Given the description of an element on the screen output the (x, y) to click on. 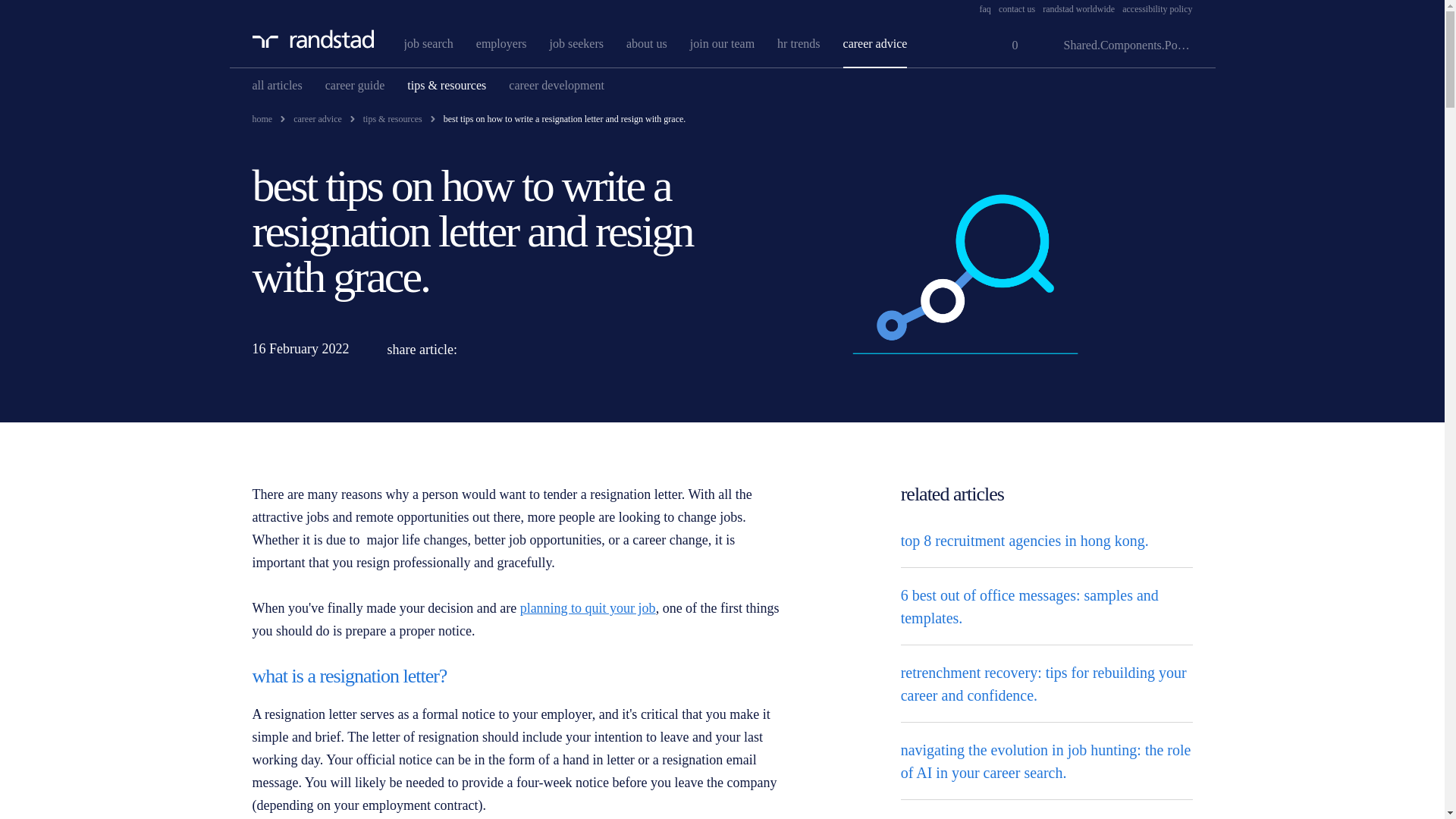
randstad (311, 38)
faq (985, 9)
hr trends (798, 42)
employers (501, 42)
Shared.Components.Popup.myRandstad.Title (1116, 44)
share this article on linkedin (483, 349)
job search (427, 42)
randstad worldwide (1078, 9)
randstad (311, 38)
contact us (1016, 9)
